Given the description of an element on the screen output the (x, y) to click on. 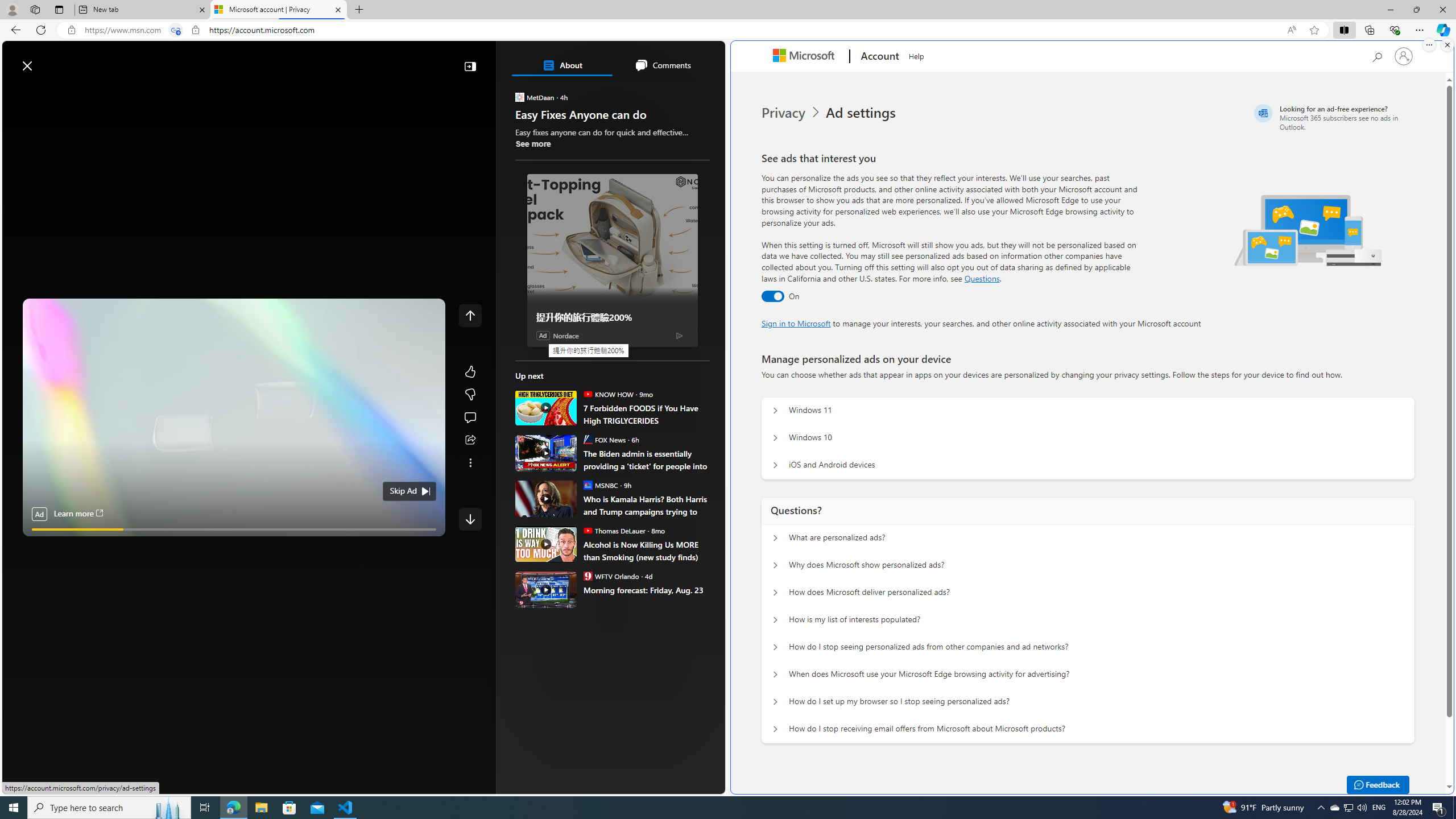
Manage personalized ads on your device Windows 10 (775, 437)
Go to Questions section (981, 278)
video progress bar (234, 529)
Thomas DeLauer (587, 529)
7 Forbidden FOODS if You Have High TRIGLYCERIDES (646, 414)
More options. (1428, 45)
